Given the description of an element on the screen output the (x, y) to click on. 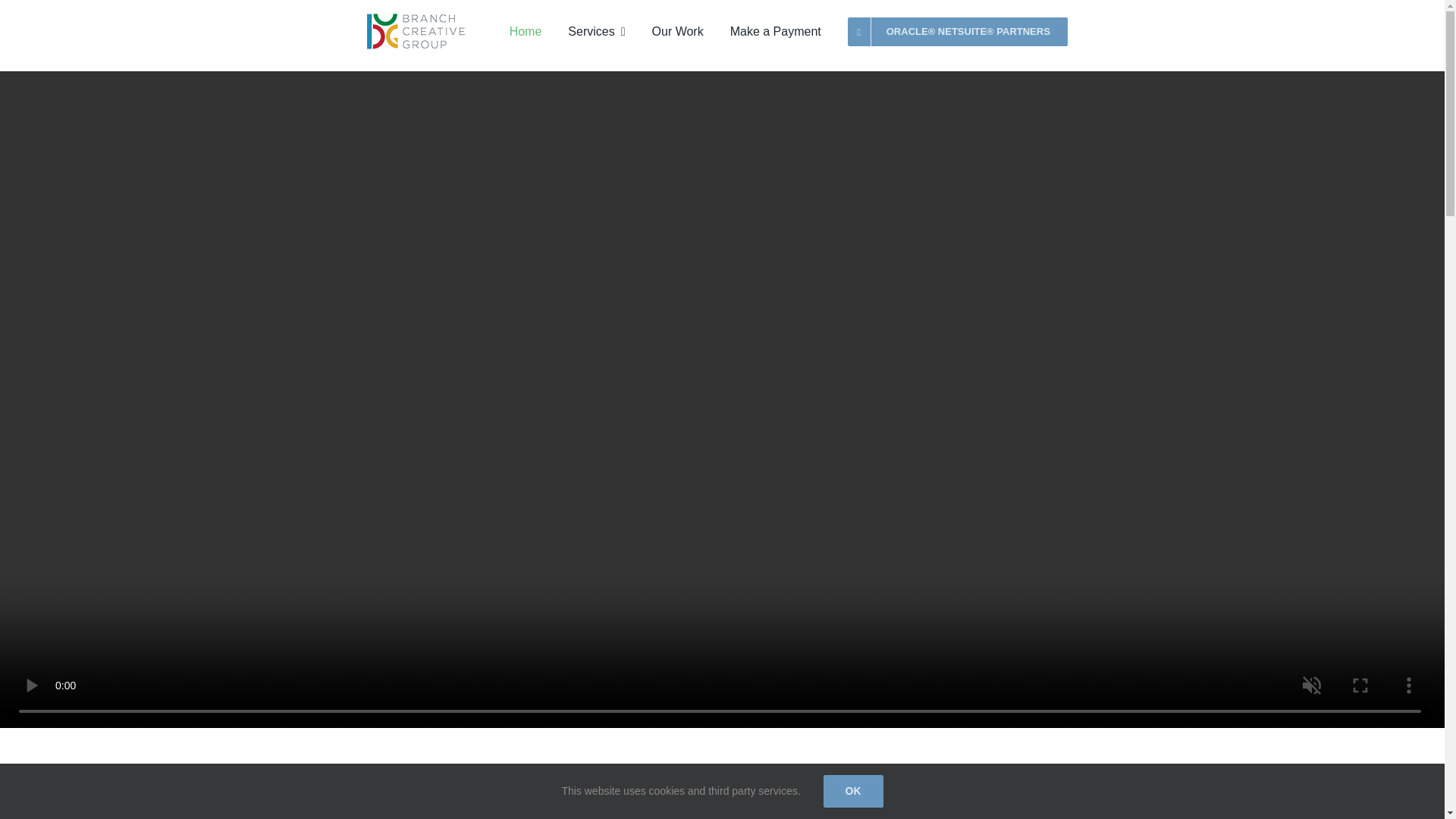
Make a Payment (775, 32)
Services (595, 32)
Home (525, 32)
Our Work (677, 32)
